Given the description of an element on the screen output the (x, y) to click on. 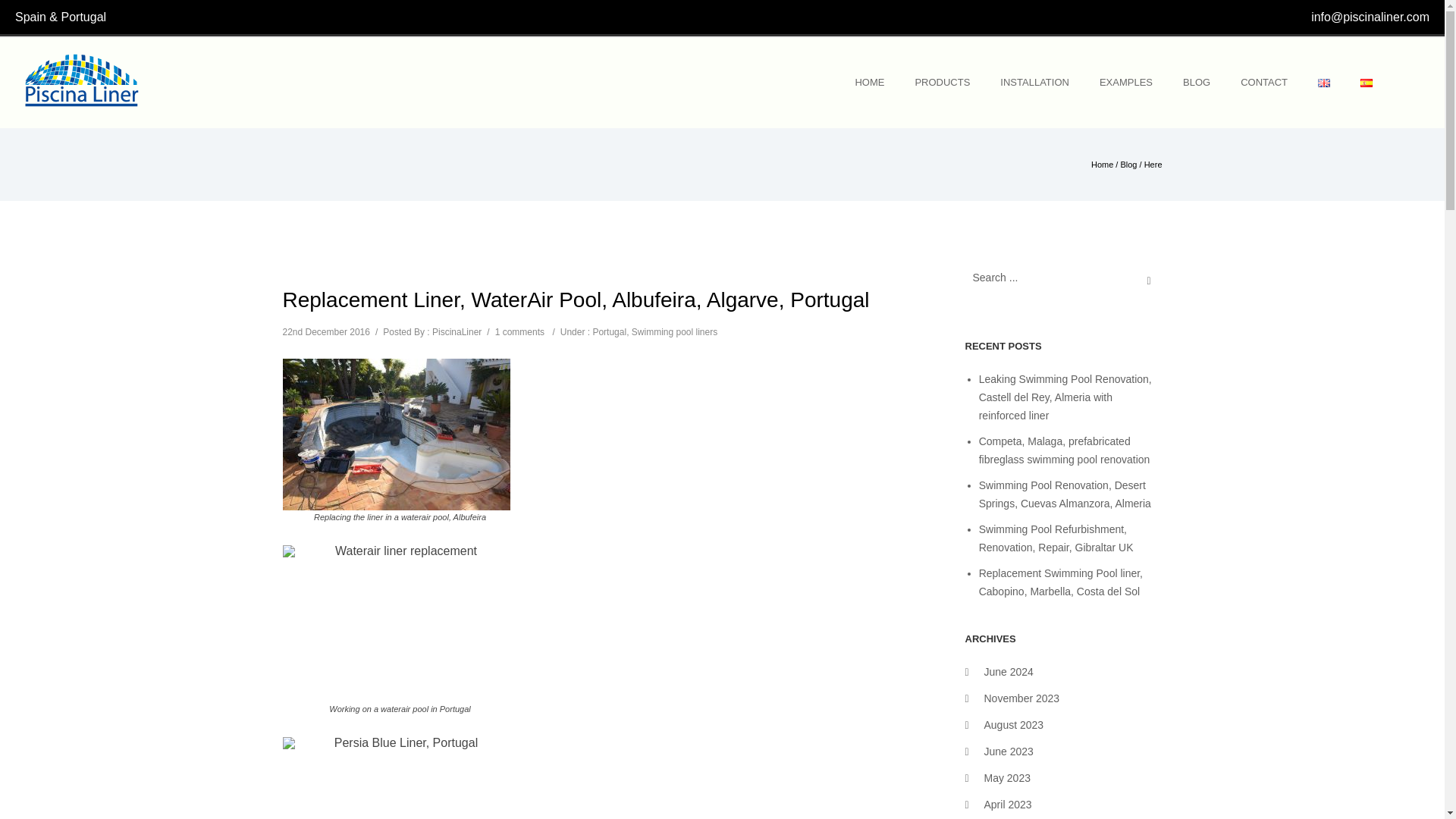
INSTALLATION (1034, 81)
HOME (869, 81)
1 comments (519, 331)
EXAMPLES (1125, 81)
Installation (1034, 81)
CONTACT (1264, 81)
Home (869, 81)
PRODUCTS (942, 81)
BLOG (1196, 81)
Examples (1125, 81)
Home (1101, 163)
Portugal (609, 331)
Contact (1264, 81)
Blog (1128, 163)
